Given the description of an element on the screen output the (x, y) to click on. 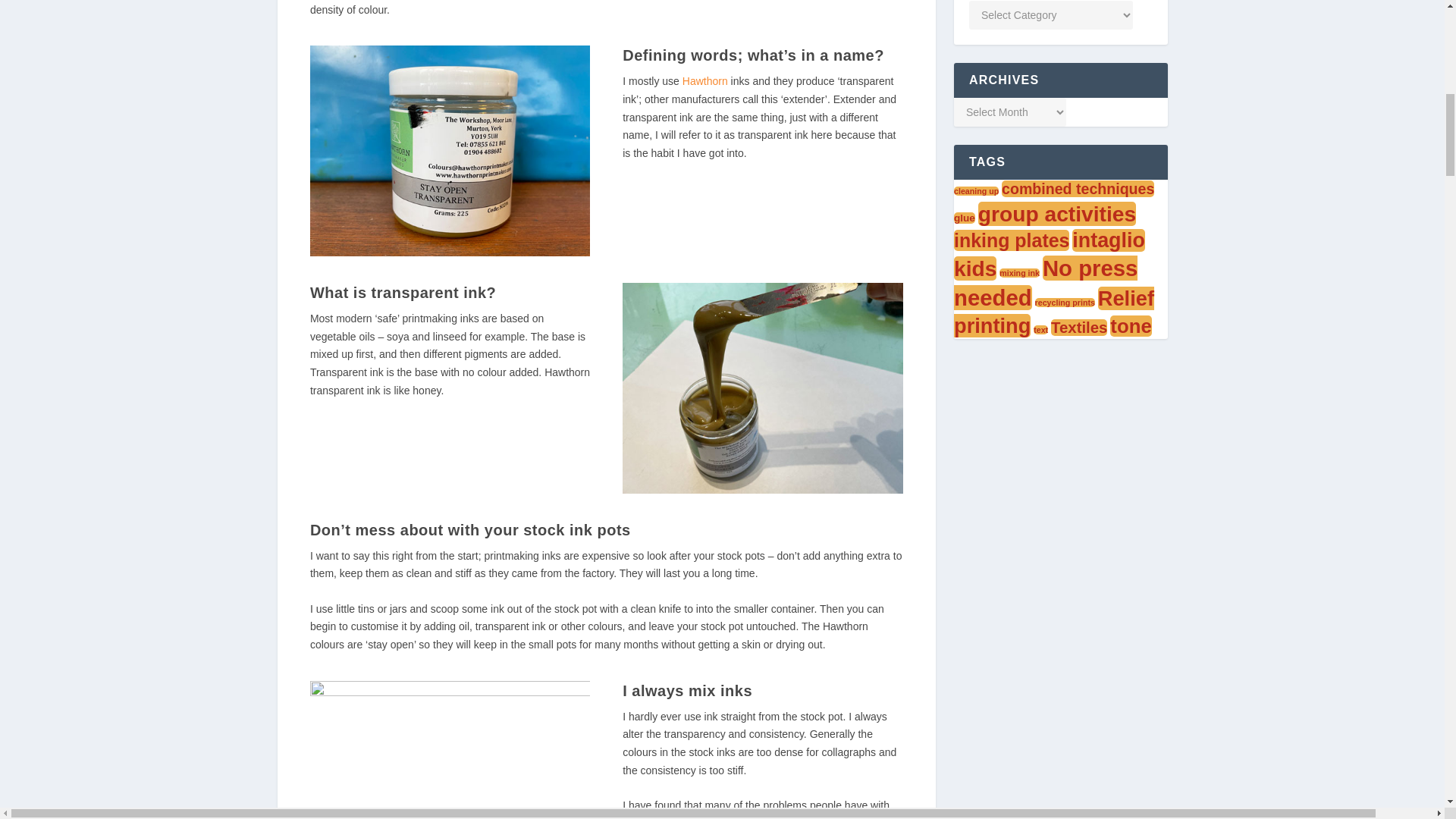
mixed-up-pots (449, 749)
Hawthorn (705, 80)
trans-on-knife (762, 387)
transparent-ink-tub (449, 150)
